Given the description of an element on the screen output the (x, y) to click on. 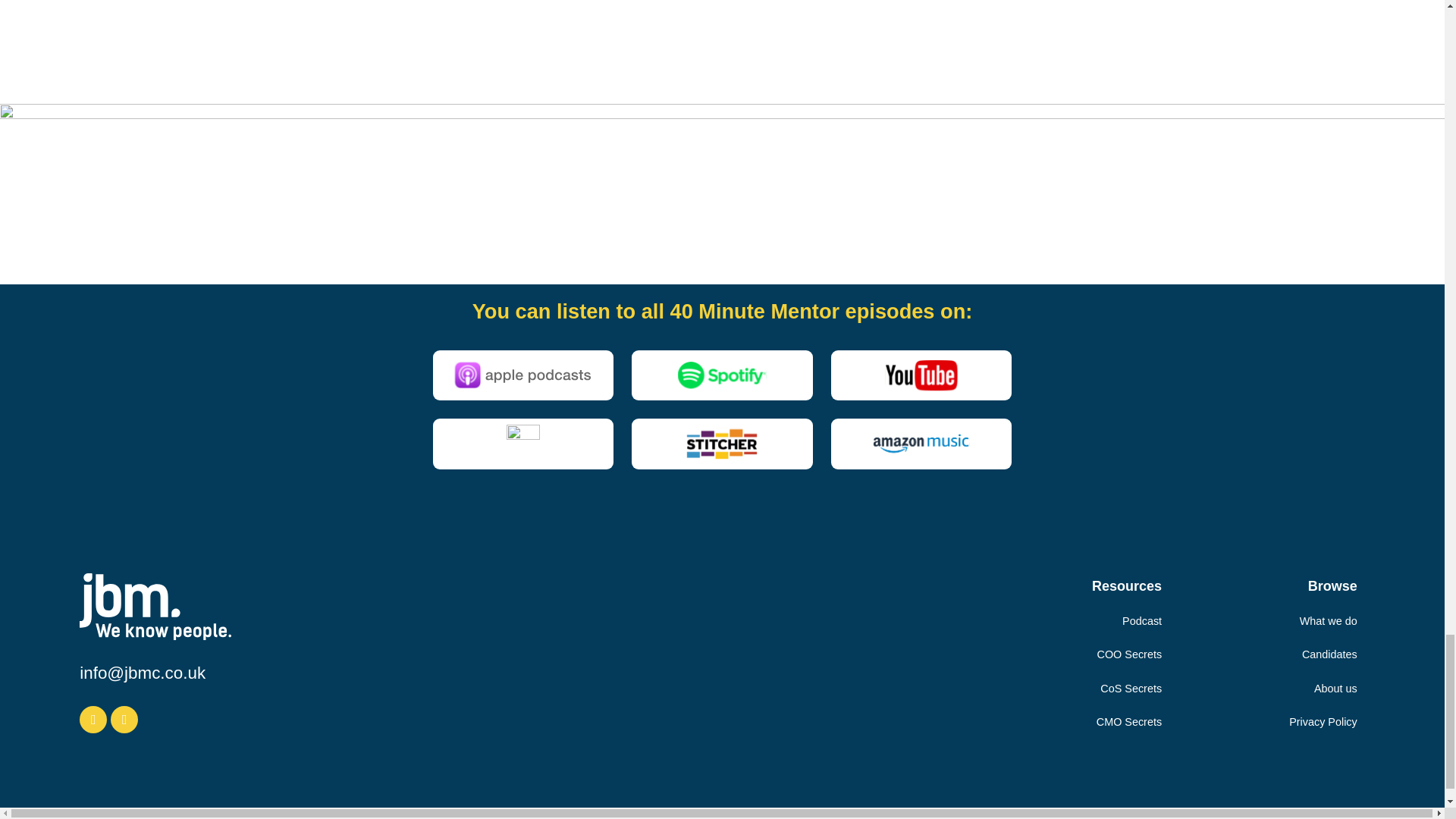
CMO Secrets (1128, 721)
CoS Secrets (1130, 688)
Podcast (1141, 621)
What we do (1328, 621)
COO Secrets (1129, 654)
